Given the description of an element on the screen output the (x, y) to click on. 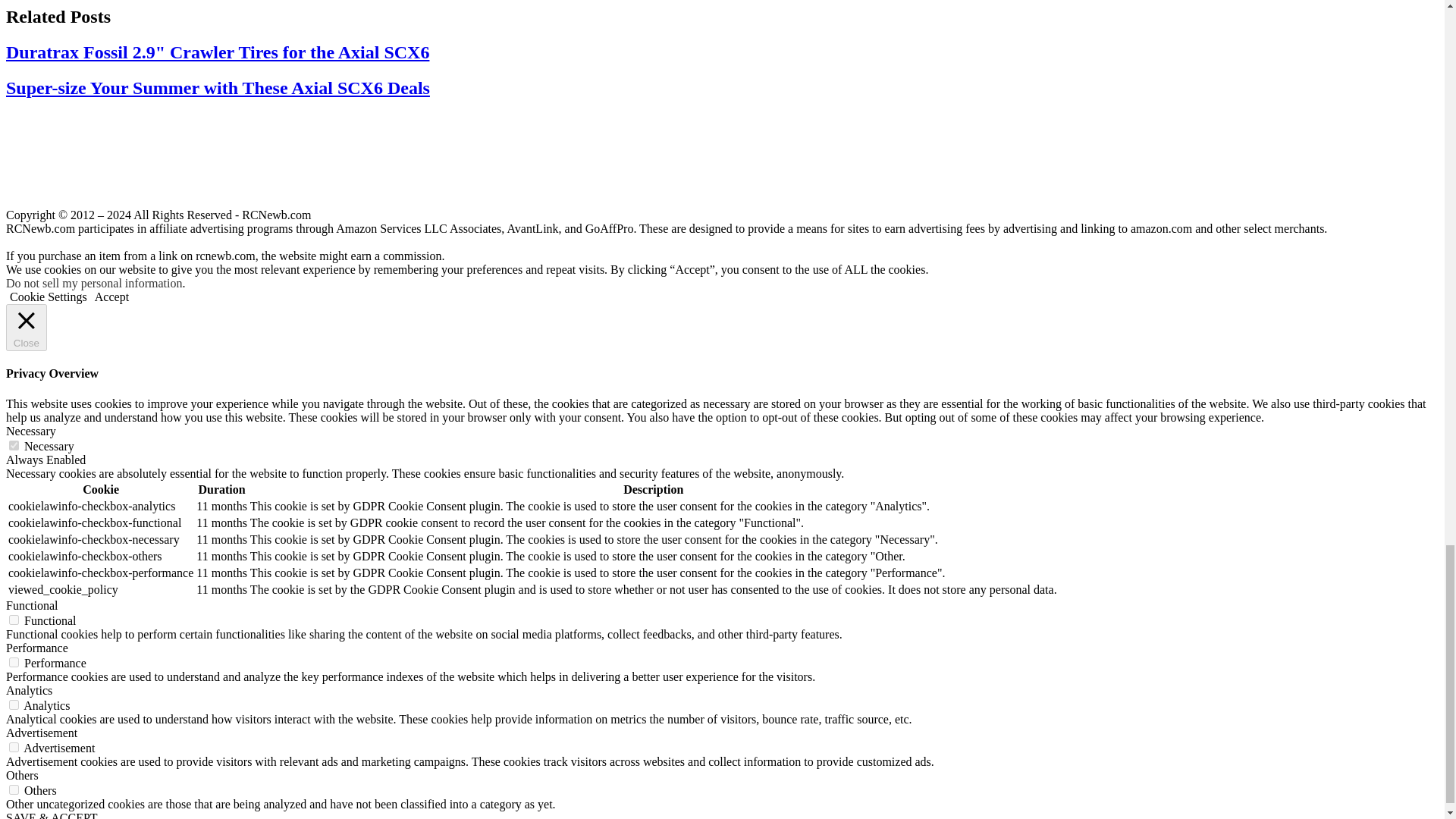
on (13, 705)
Cookie Settings (48, 296)
on (13, 789)
on (13, 619)
on (13, 747)
on (13, 662)
on (13, 445)
Accept (111, 296)
Do not sell my personal information (93, 282)
